Given the description of an element on the screen output the (x, y) to click on. 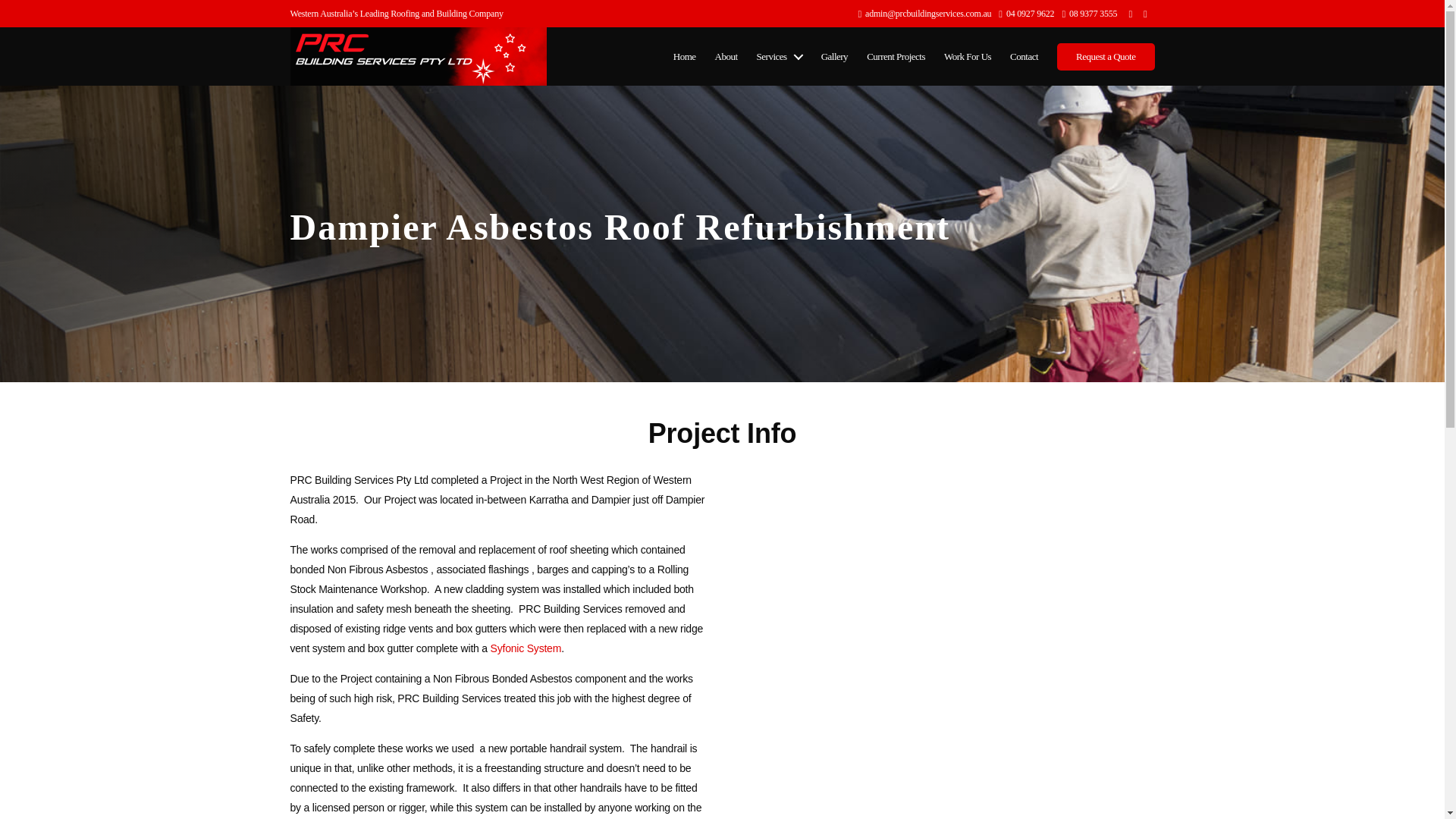
Services (779, 55)
About (726, 55)
Work For Us (967, 55)
08 9377 3555 (1088, 13)
Home (683, 55)
Current Projects (895, 55)
Request a Quote (1105, 55)
Gallery (834, 55)
Syfonic Ssytem (526, 648)
04 0927 9622 (1026, 13)
Contact (1024, 55)
